Given the description of an element on the screen output the (x, y) to click on. 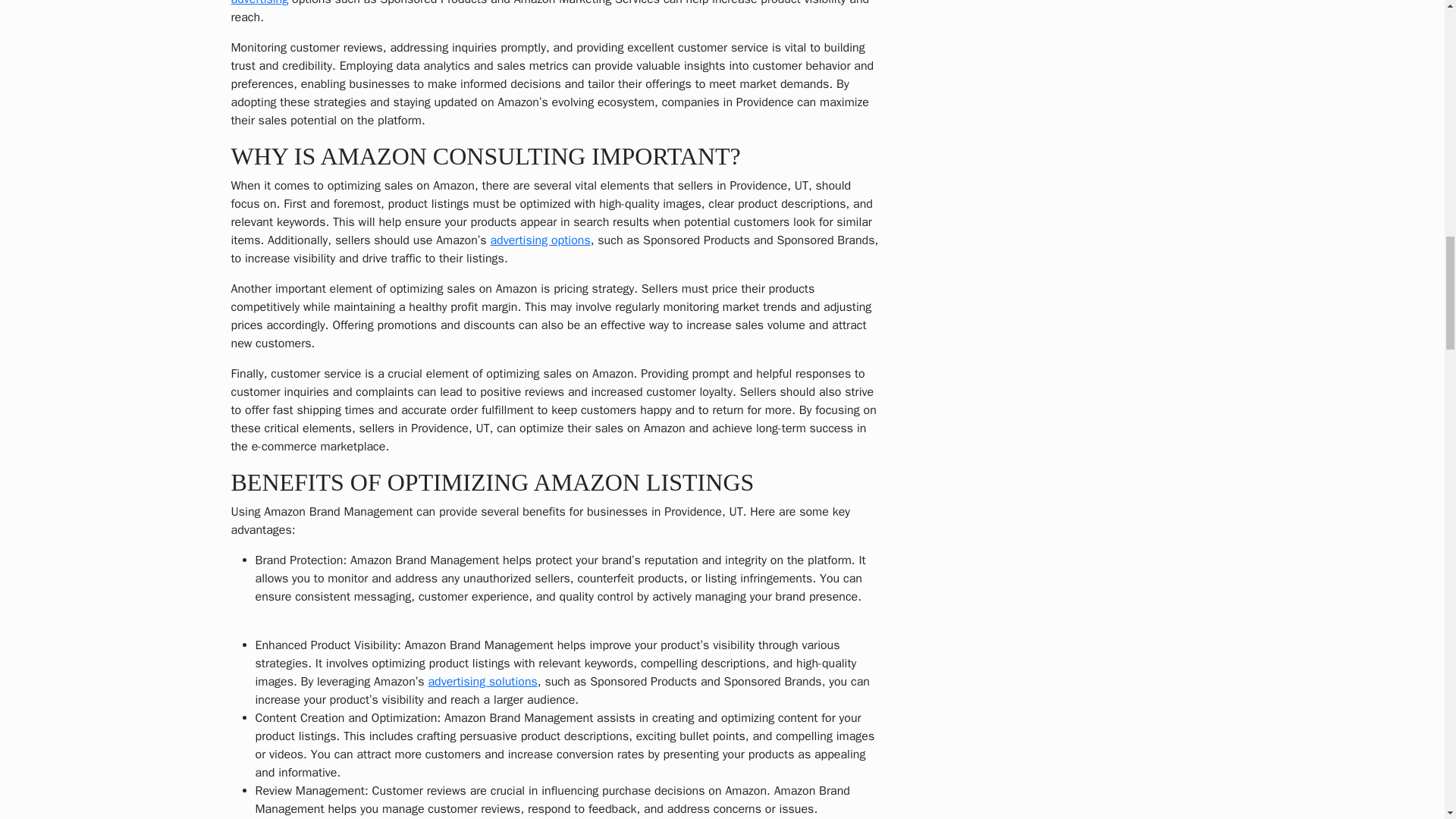
advertising options (539, 240)
advertising solutions (482, 681)
leveraging advertising (505, 3)
